Given the description of an element on the screen output the (x, y) to click on. 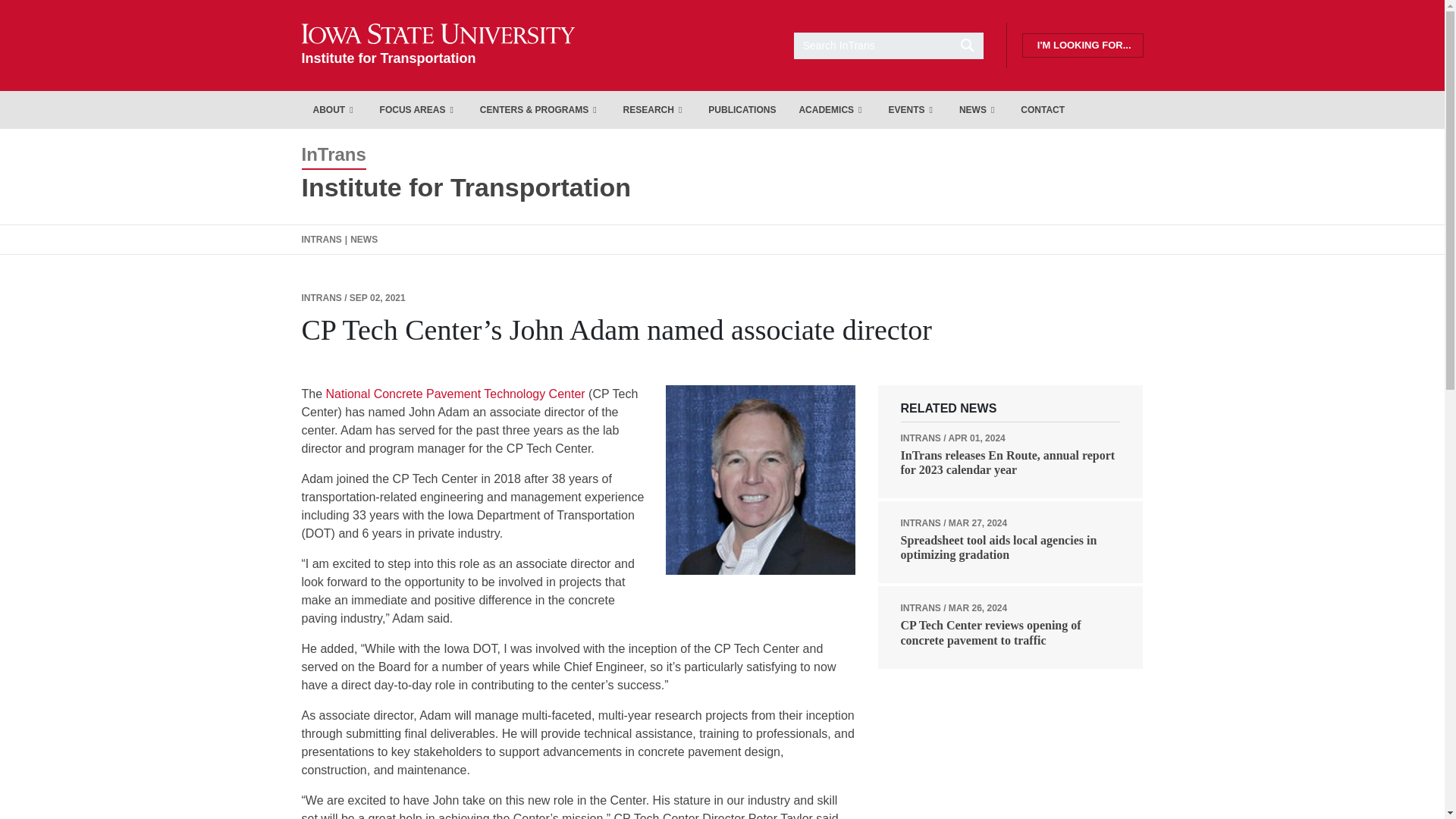
Search (887, 44)
FOCUS AREAS (418, 109)
Search (438, 44)
Search (334, 109)
RESEARCH (438, 44)
I'M LOOKING FOR... (654, 109)
